Given the description of an element on the screen output the (x, y) to click on. 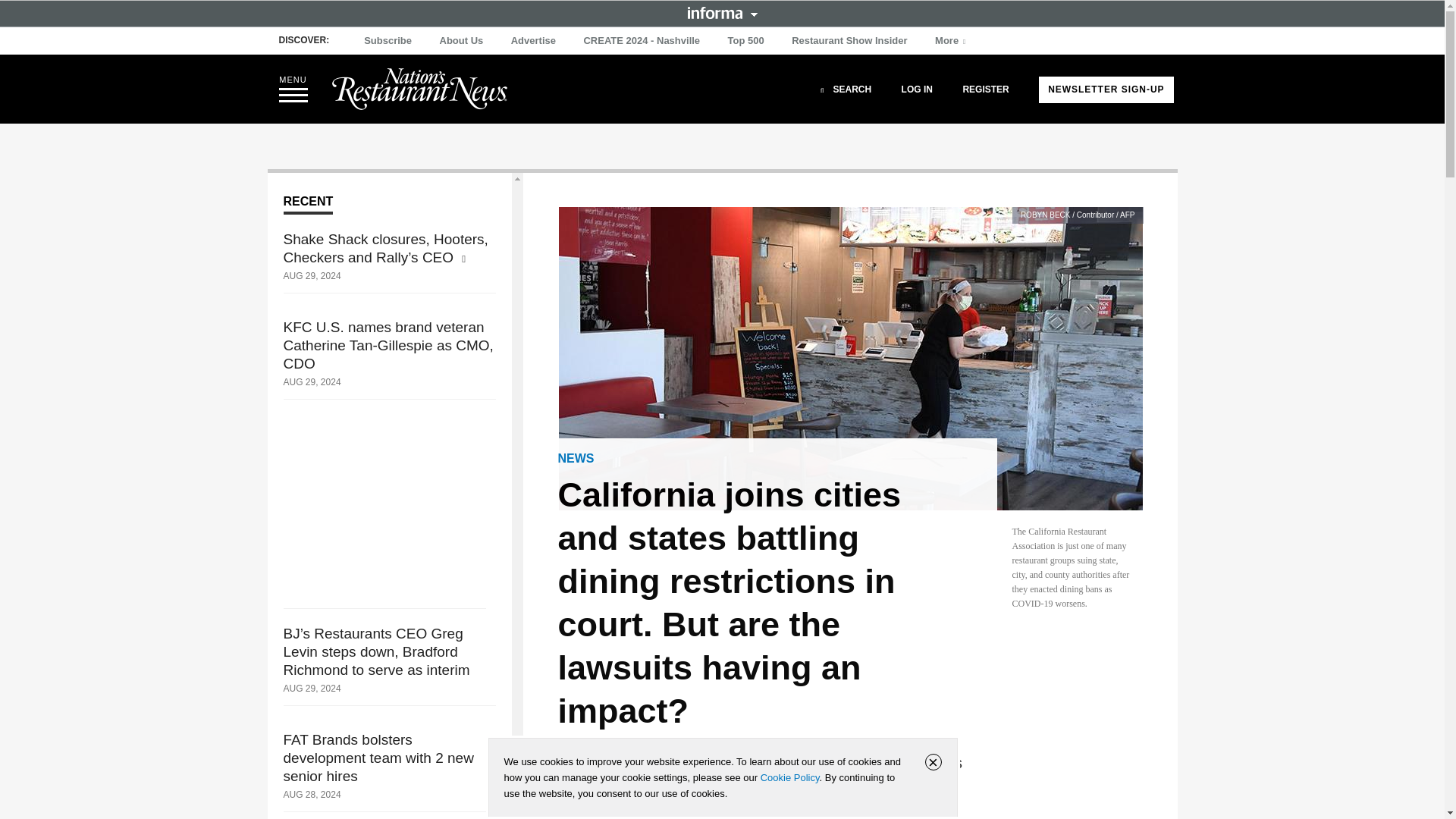
Advertise (533, 41)
More (951, 41)
Top 500 (746, 41)
INFORMA (722, 12)
About Us (461, 41)
Restaurant Show Insider (849, 41)
Subscribe (387, 41)
Cookie Policy (789, 777)
CREATE 2024 - Nashville (641, 41)
